Given the description of an element on the screen output the (x, y) to click on. 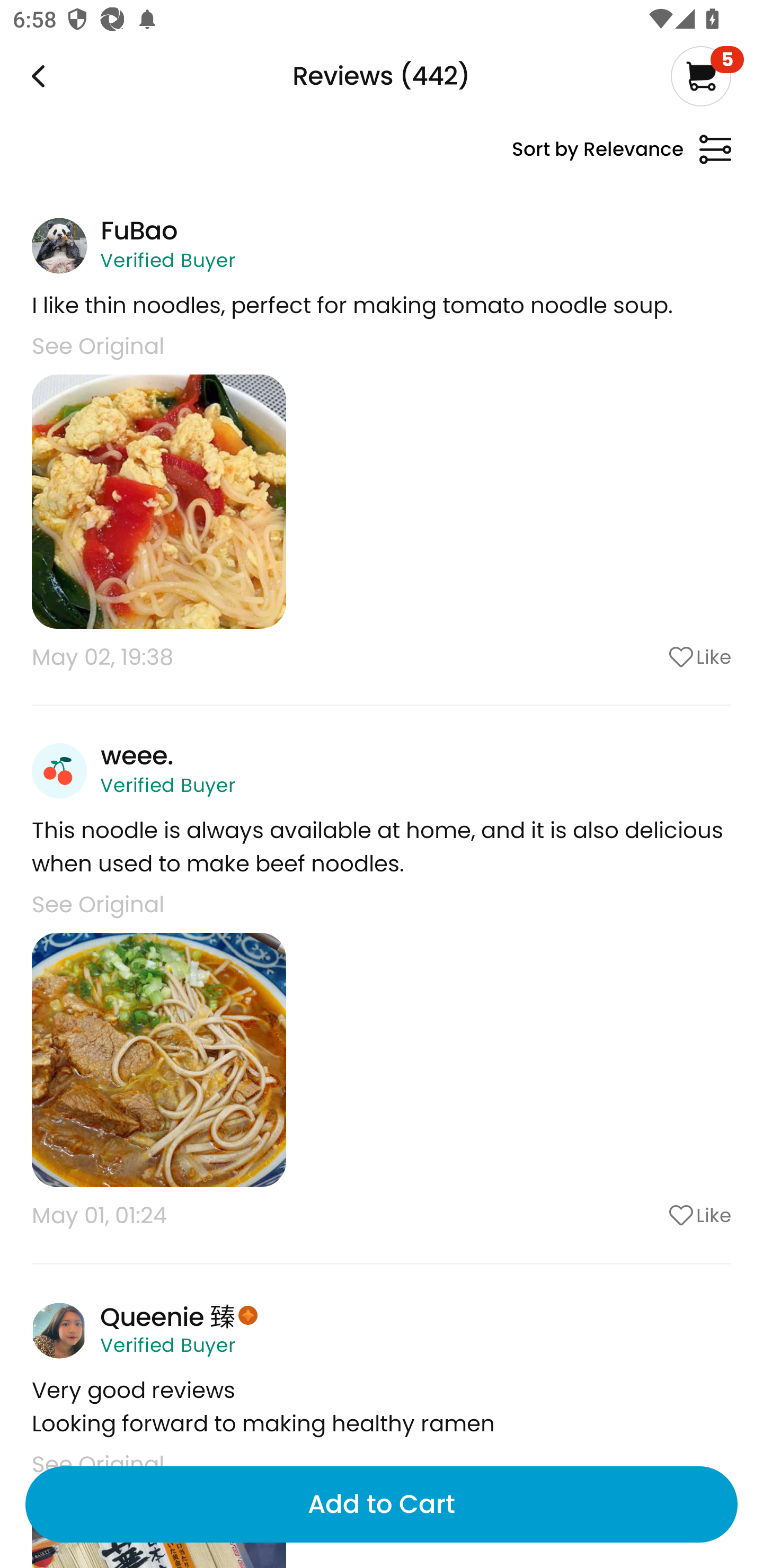
5 (706, 75)
Sort by Relevance (620, 157)
FuBao (138, 230)
Verified Buyer (167, 260)
See Original (98, 346)
Like (651, 656)
weee. (136, 755)
Verified Buyer (167, 784)
See Original (98, 904)
Like (651, 1214)
Queenie 臻 (167, 1315)
Verified Buyer (167, 1345)
Add to Cart (381, 1504)
Add to Cart (381, 1504)
